Given the description of an element on the screen output the (x, y) to click on. 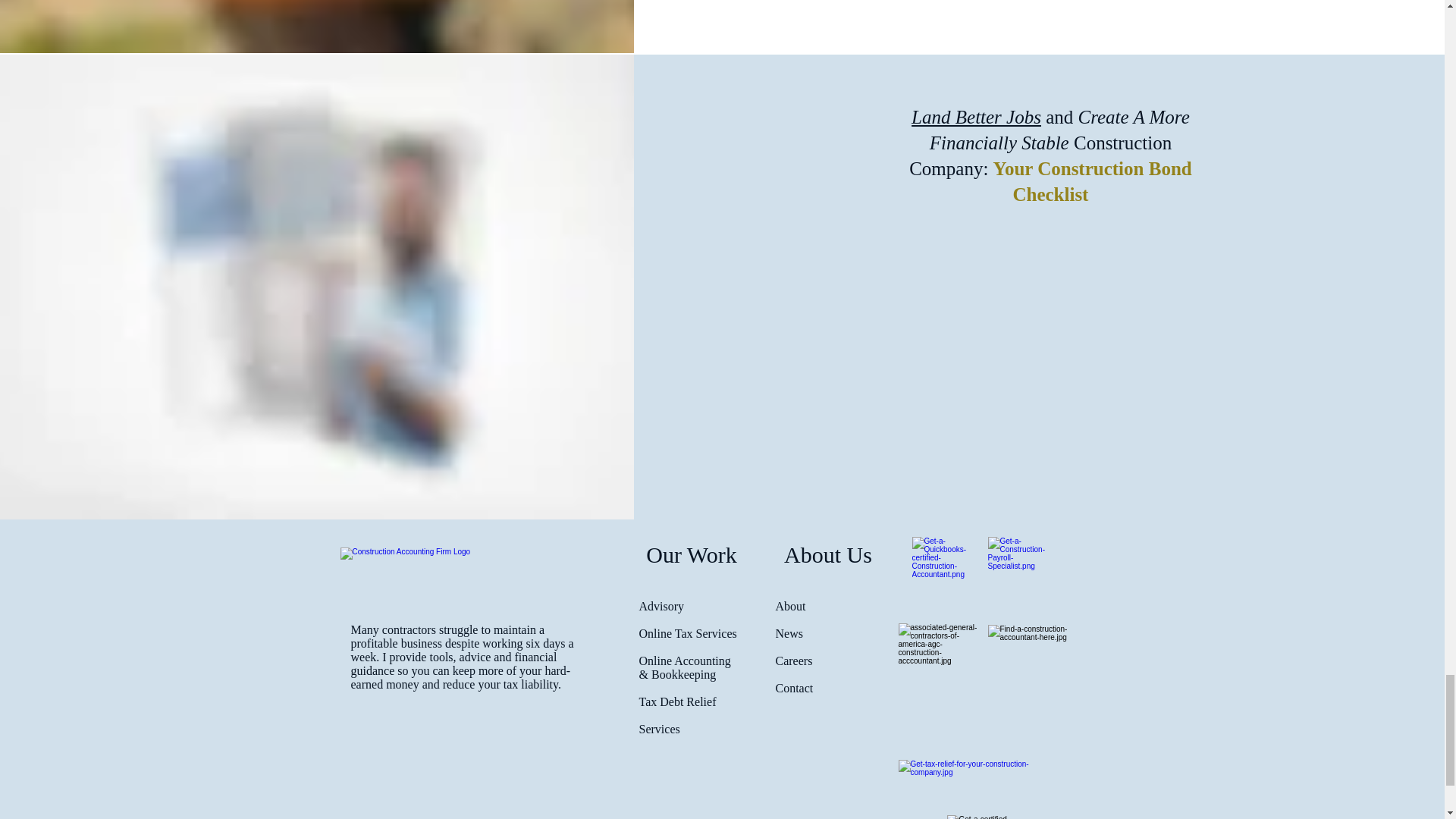
Advisory (661, 605)
Contact (793, 687)
Services (659, 728)
Tax Debt Relief (677, 701)
News (788, 633)
Online Tax Services (687, 633)
Careers (793, 660)
About (789, 605)
